Given the description of an element on the screen output the (x, y) to click on. 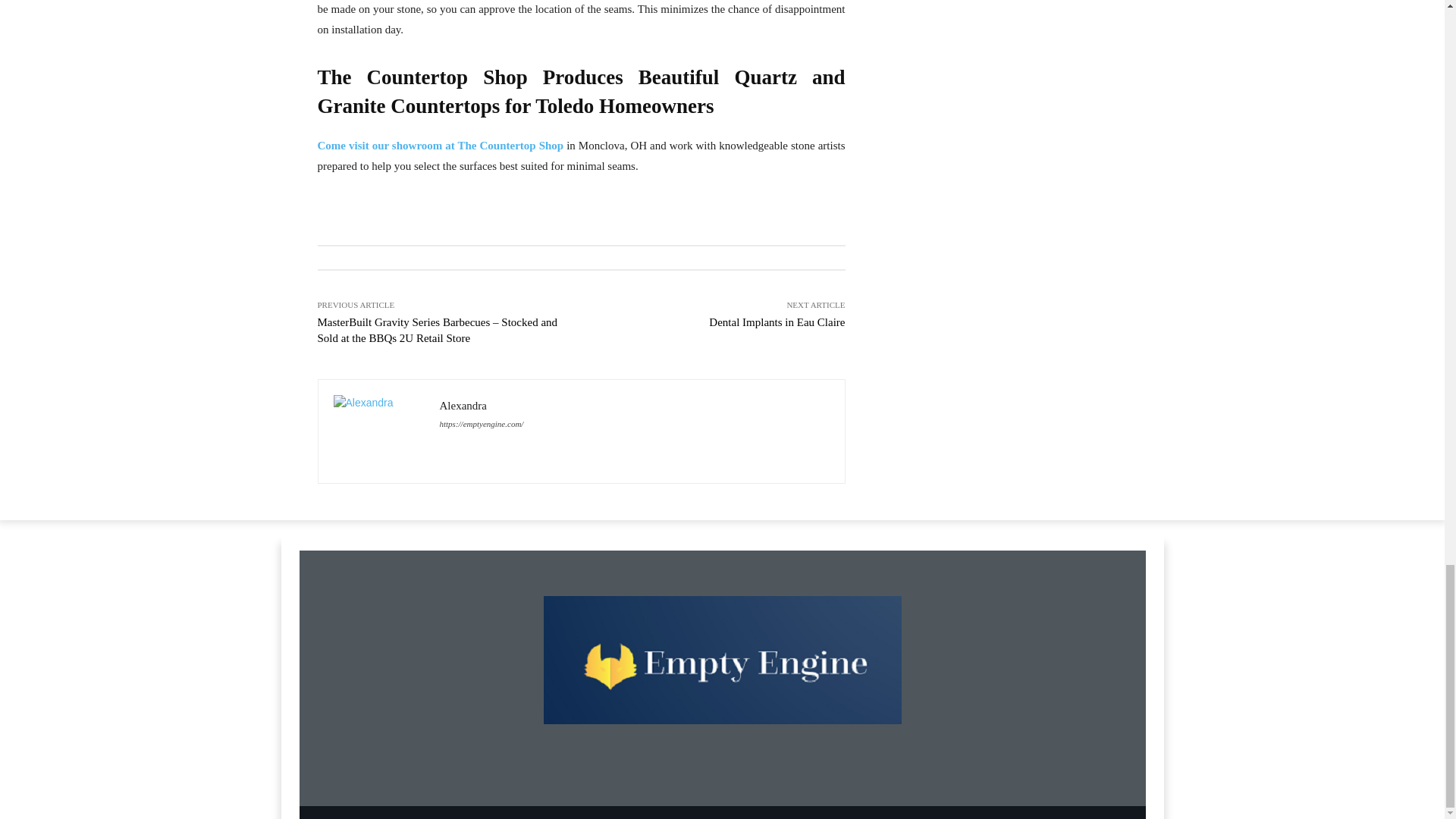
Come visit our showroom at The Countertop Shop (440, 145)
Dental Implants in Eau Claire (776, 322)
Alexandra (379, 430)
Alexandra (481, 405)
